Given the description of an element on the screen output the (x, y) to click on. 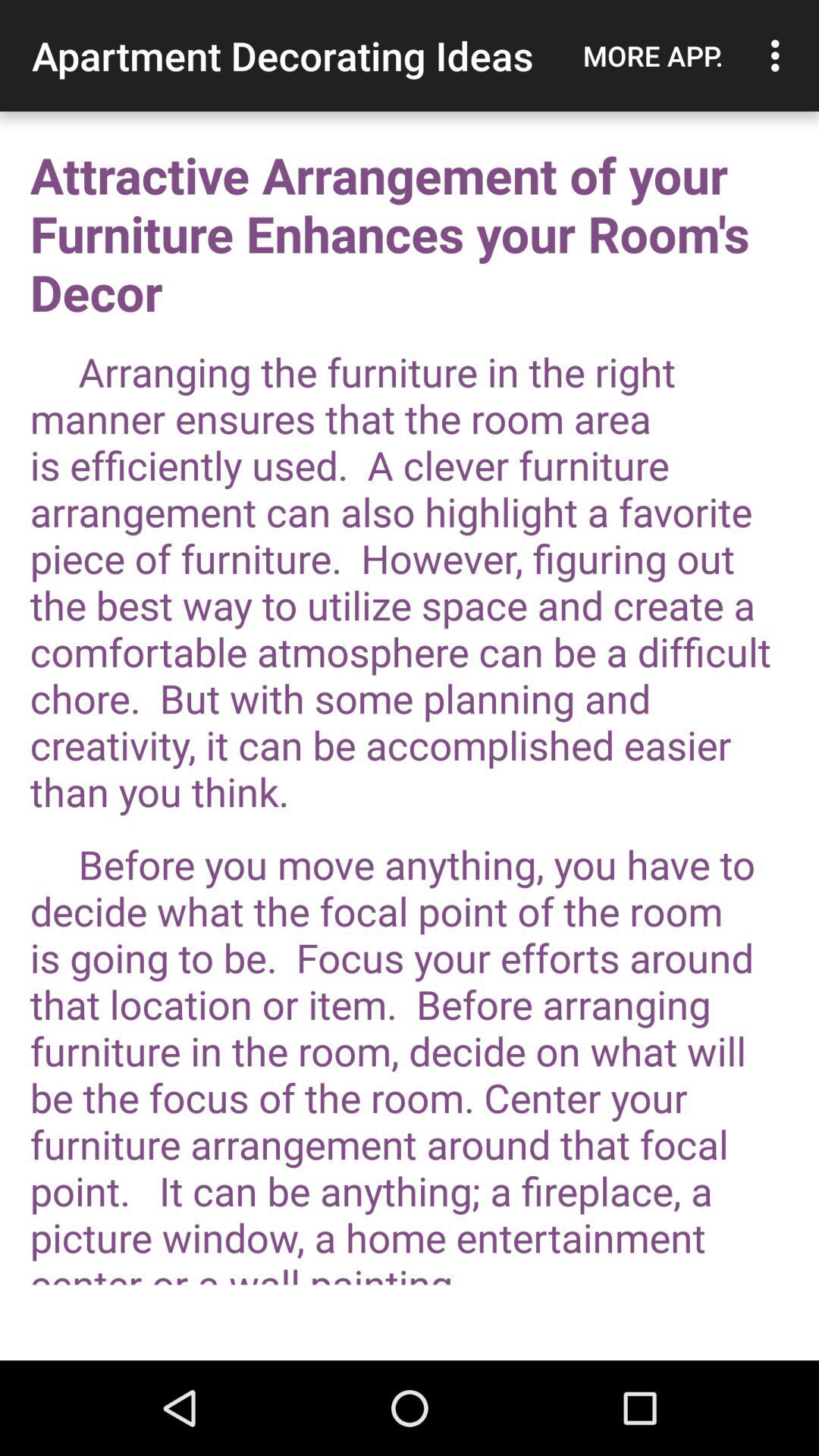
choose more app. icon (653, 55)
